Given the description of an element on the screen output the (x, y) to click on. 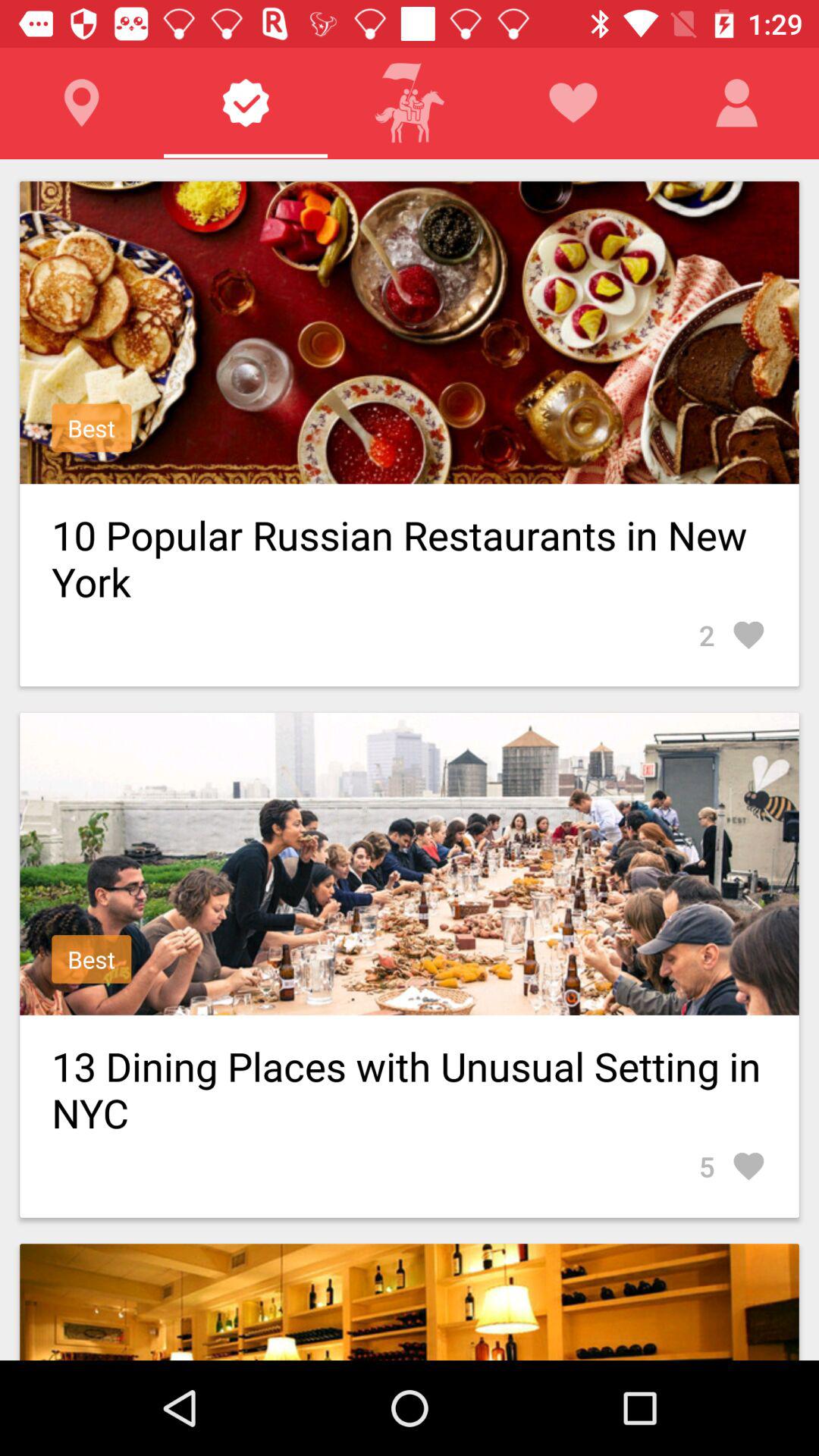
click 5 icon (732, 1166)
